Given the description of an element on the screen output the (x, y) to click on. 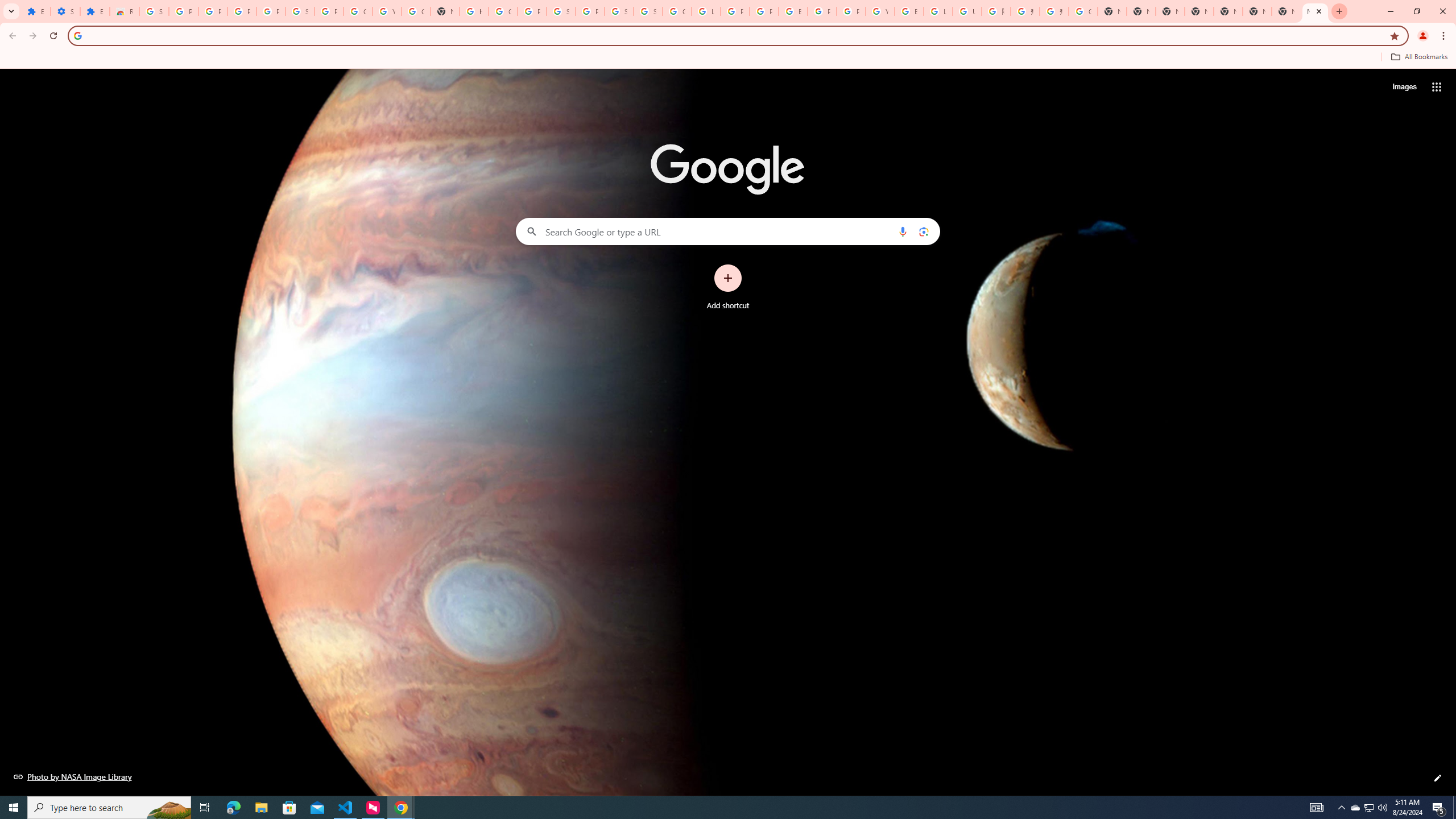
Sign in - Google Accounts (300, 11)
Sign in - Google Accounts (619, 11)
Search by voice (902, 230)
YouTube (386, 11)
Reviews: Helix Fruit Jump Arcade Game (124, 11)
Search Google or type a URL (727, 230)
Photo by NASA Image Library (72, 776)
